Given the description of an element on the screen output the (x, y) to click on. 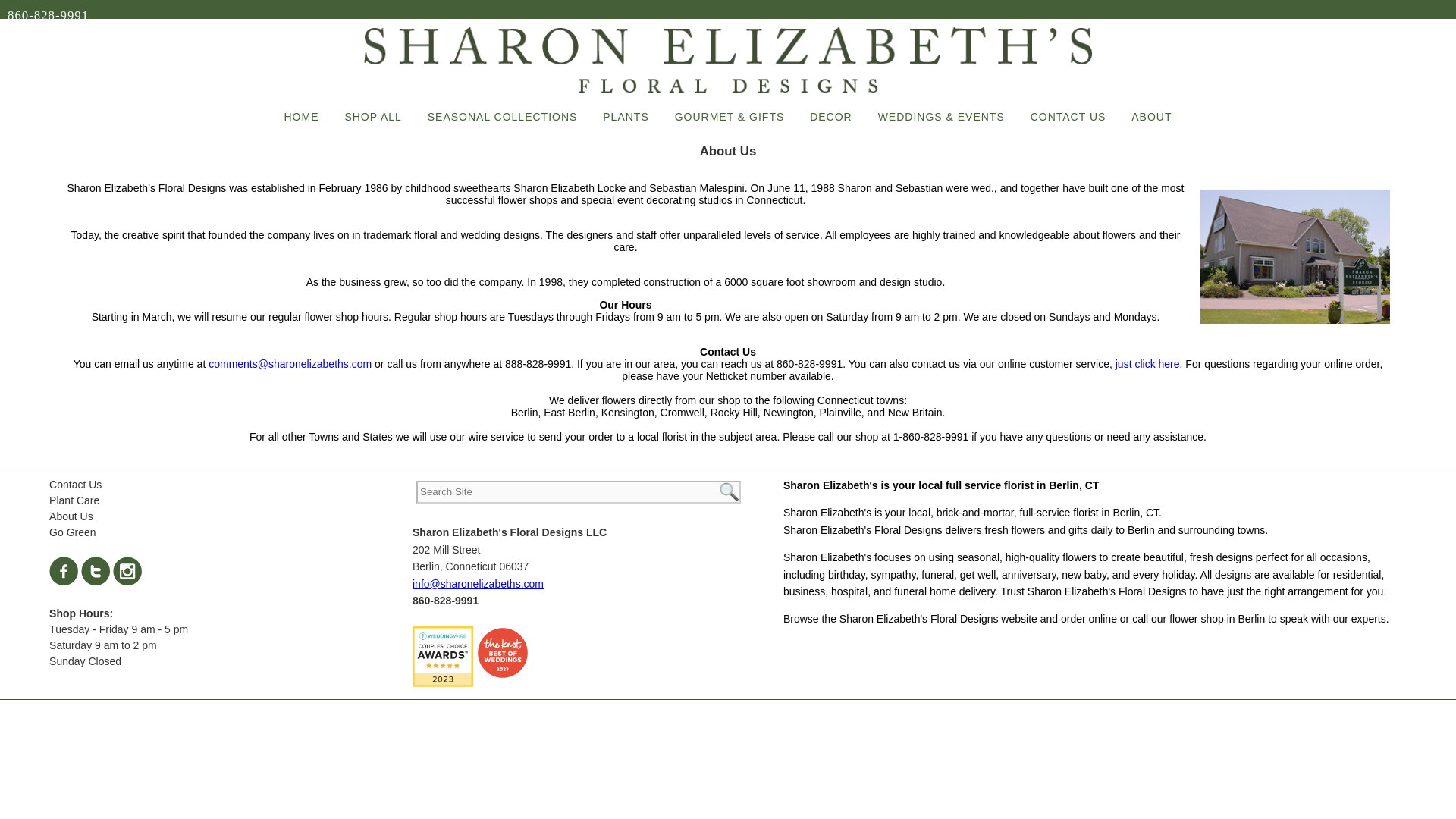
HOME (301, 116)
Plant Care (74, 500)
just click here (1147, 363)
PLANTS (625, 116)
CONTACT US (1068, 116)
860-828-9991 (47, 15)
Go Green (72, 532)
Contact Us (75, 484)
About Us (71, 516)
